Given the description of an element on the screen output the (x, y) to click on. 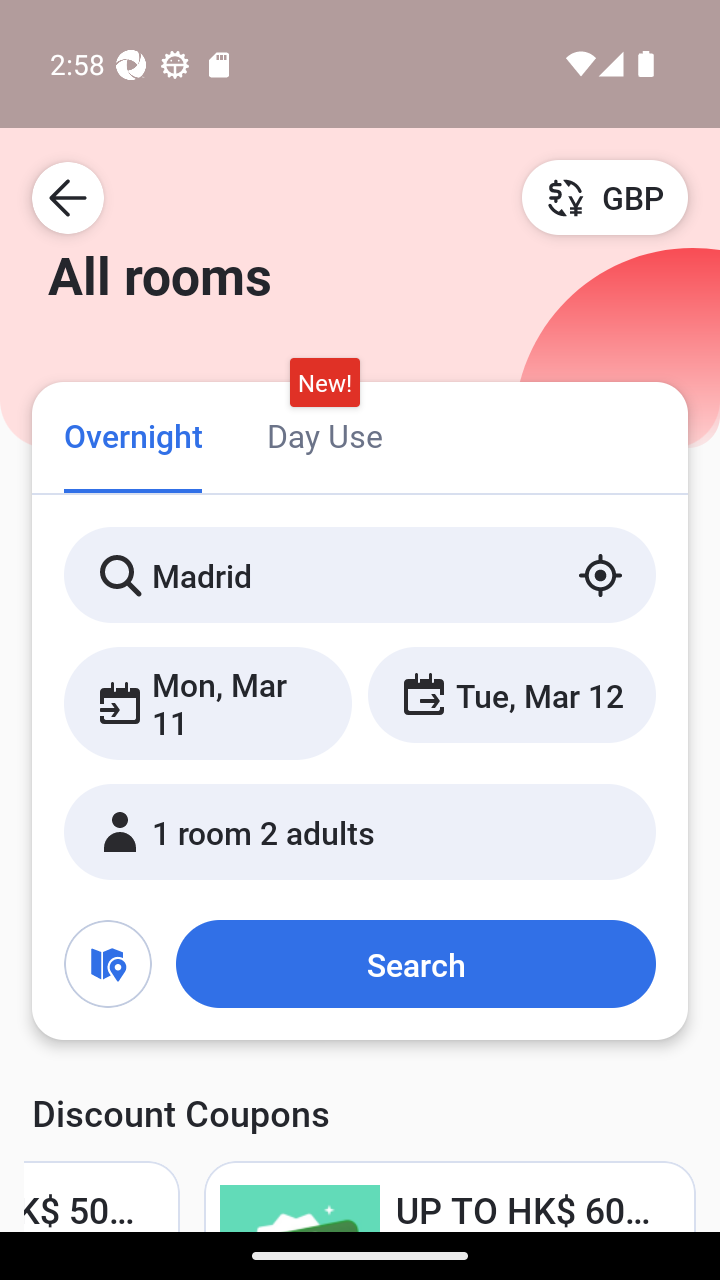
GBP (605, 197)
New! (324, 383)
Day Use (324, 434)
Madrid (359, 575)
Mon, Mar 11 (208, 703)
Tue, Mar 12 (511, 694)
1 room 2 adults (359, 831)
Search (415, 964)
